Given the description of an element on the screen output the (x, y) to click on. 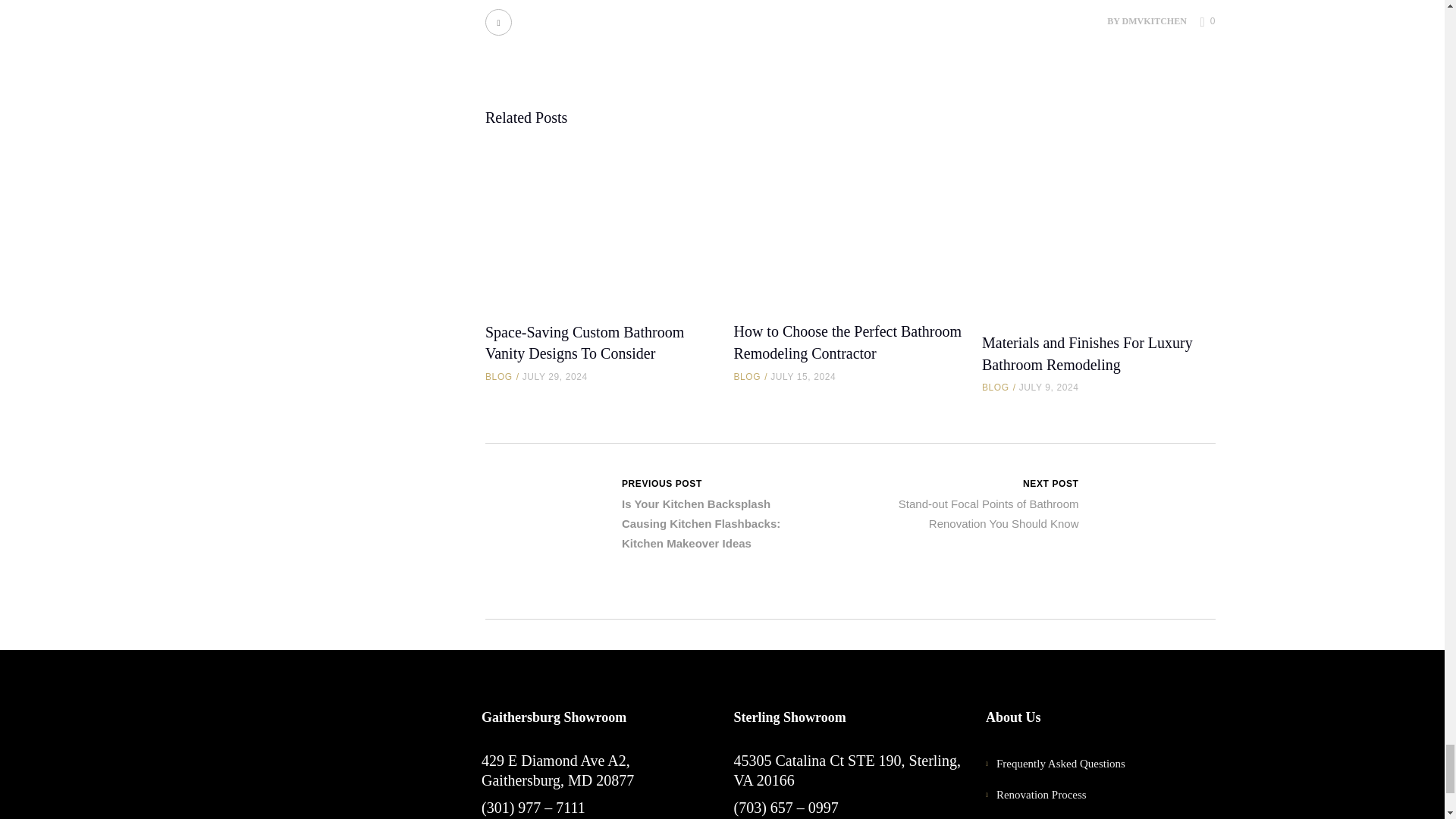
How to Choose the Perfect Bathroom Remodeling Contractor (846, 341)
How to Choose the Perfect Bathroom Remodeling Contractor (849, 223)
Materials and Finishes For Luxury Bathroom Remodeling (1086, 353)
Space-Saving Custom Bathroom Vanity Designs To Consider (584, 342)
Space-Saving Custom Bathroom Vanity Designs To Consider (600, 223)
Materials and Finishes For Luxury Bathroom Remodeling (1097, 228)
